Given the description of an element on the screen output the (x, y) to click on. 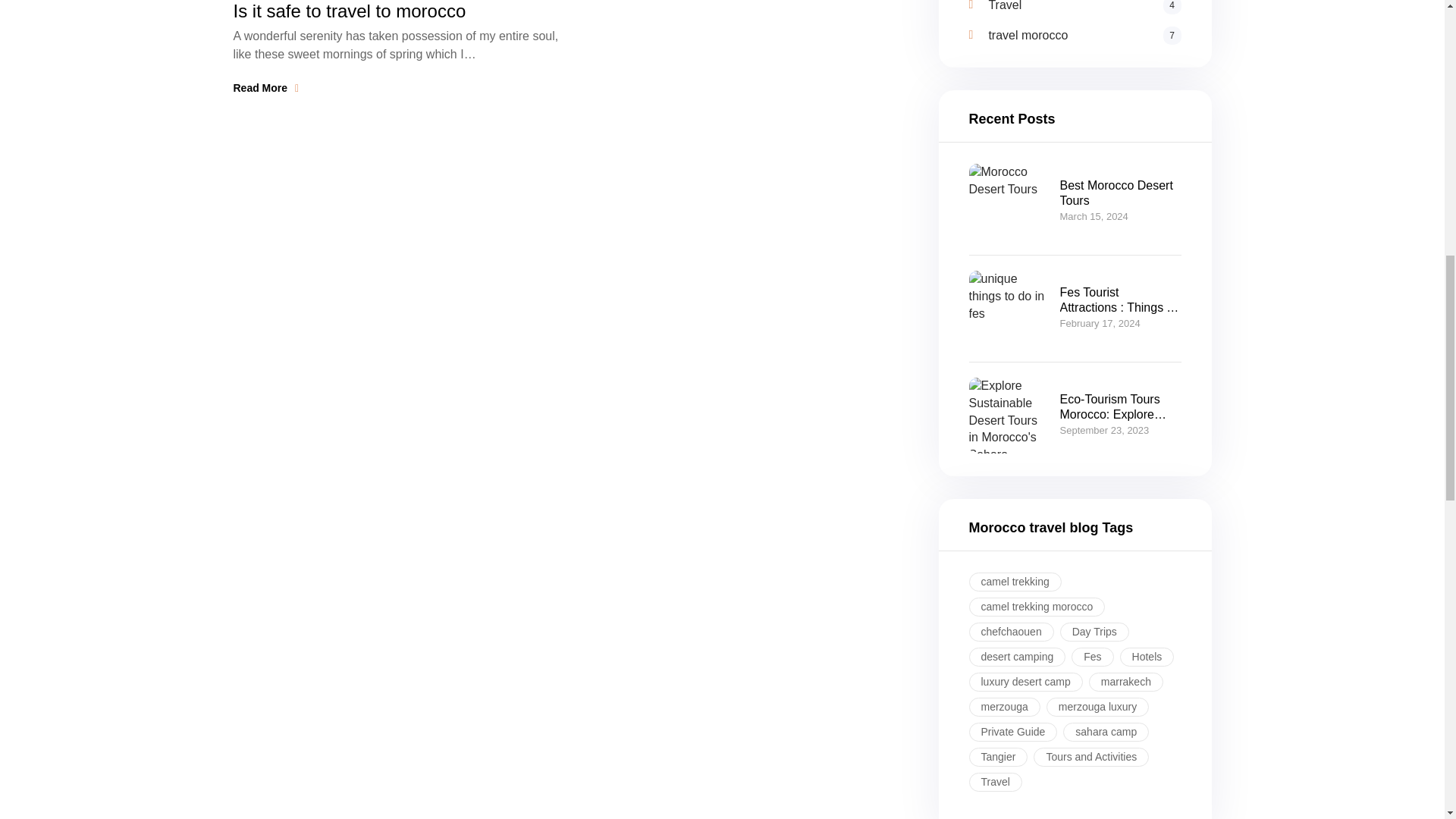
Read More (1084, 35)
Is it safe to travel to morocco (265, 87)
